Given the description of an element on the screen output the (x, y) to click on. 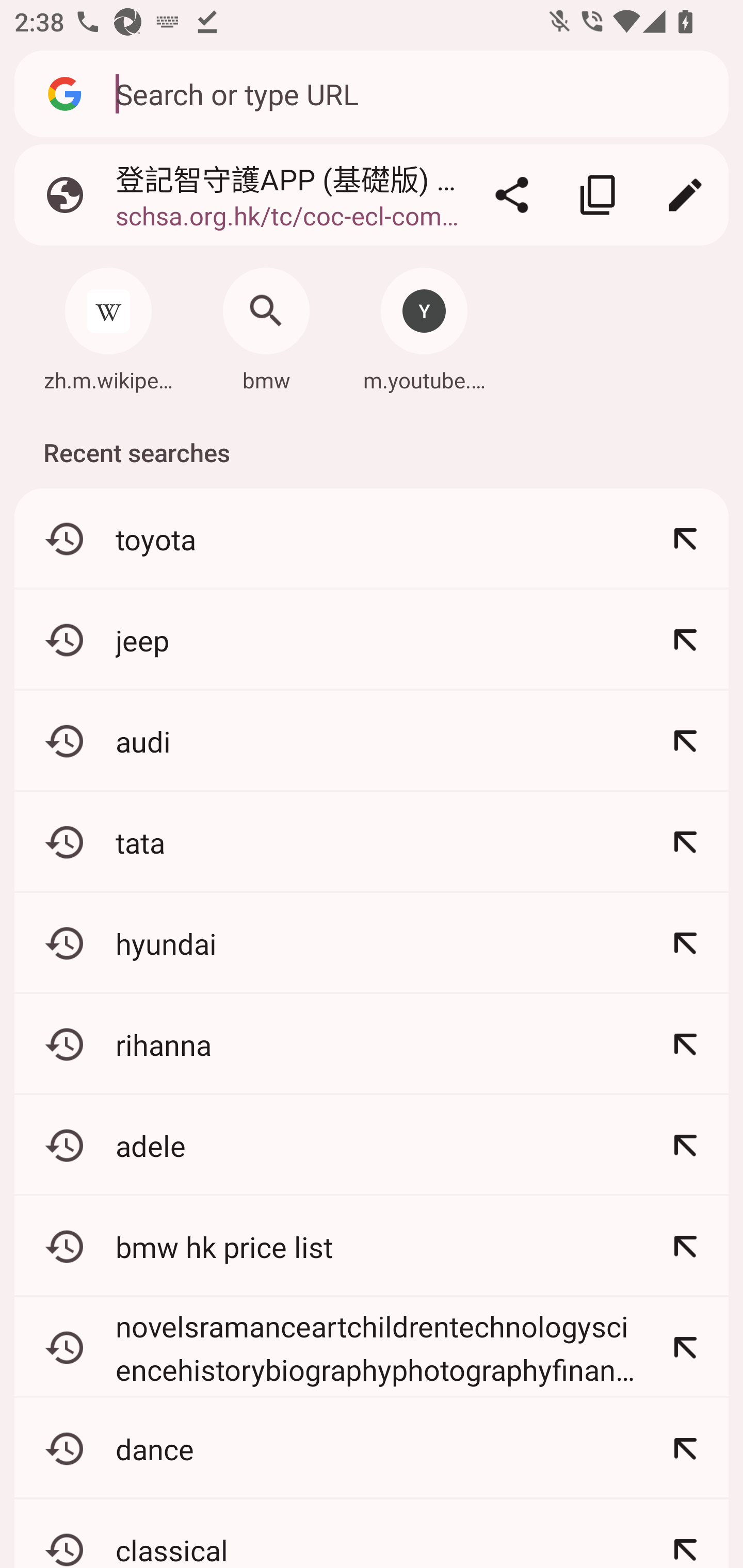
Search or type URL (410, 92)
Share… (511, 195)
Copy link (598, 195)
Edit (684, 195)
Search: bmw bmw (265, 324)
toyota Refine: toyota (371, 539)
Refine: toyota (684, 539)
jeep Refine: jeep (371, 639)
Refine: jeep (684, 639)
audi Refine: audi (371, 740)
Refine: audi (684, 740)
tata Refine: tata (371, 841)
Refine: tata (684, 841)
hyundai Refine: hyundai (371, 943)
Refine: hyundai (684, 943)
rihanna Refine: rihanna (371, 1044)
Refine: rihanna (684, 1044)
adele Refine: adele (371, 1145)
Refine: adele (684, 1145)
bmw hk price list Refine: bmw hk price list (371, 1246)
Refine: bmw hk price list (684, 1246)
dance Refine: dance (371, 1448)
Refine: dance (684, 1448)
classical Refine: classical (371, 1533)
Refine: classical (684, 1533)
